Given the description of an element on the screen output the (x, y) to click on. 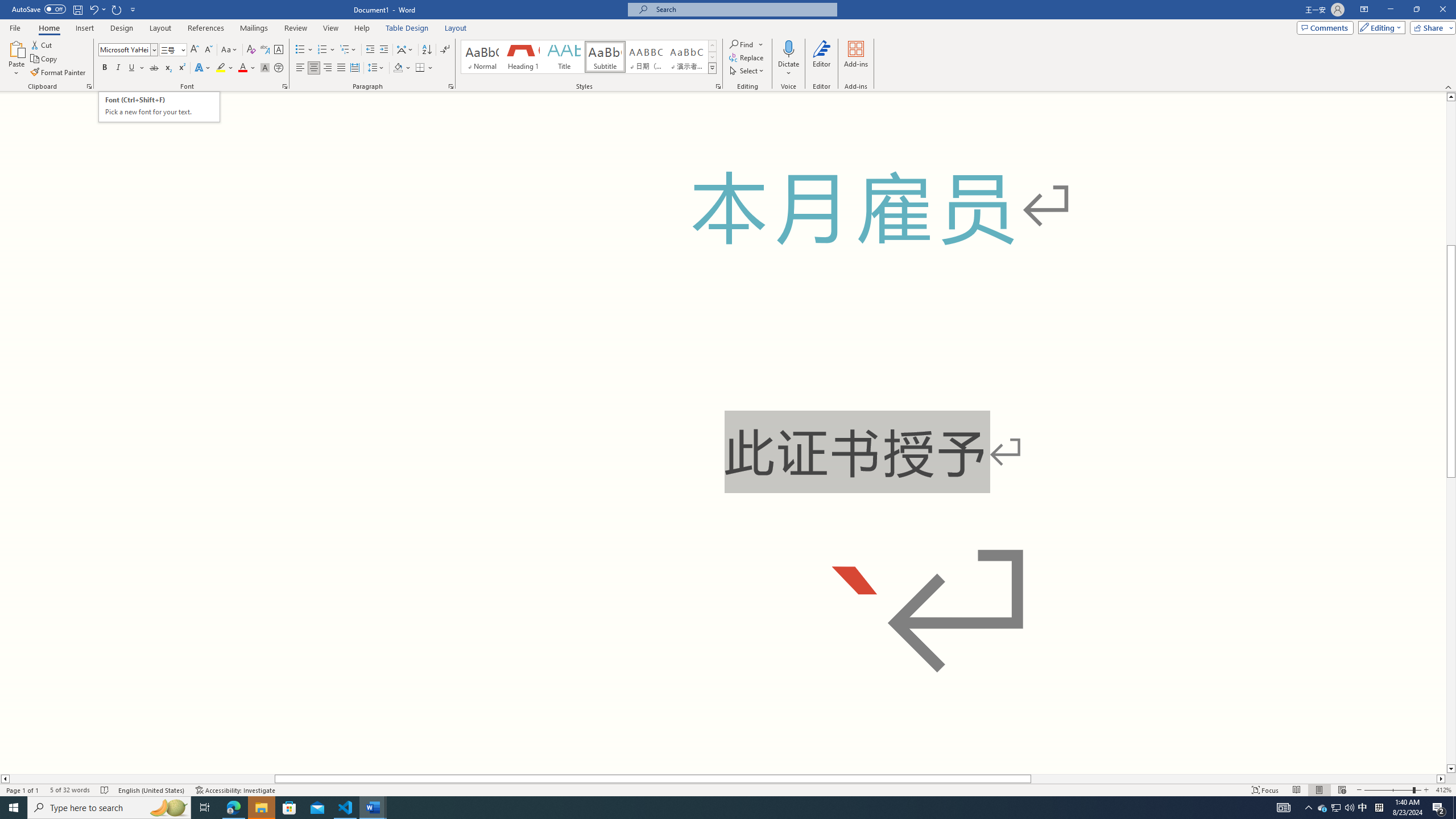
Heading 1 (522, 56)
Column left (5, 778)
Line up (1450, 96)
